Given the description of an element on the screen output the (x, y) to click on. 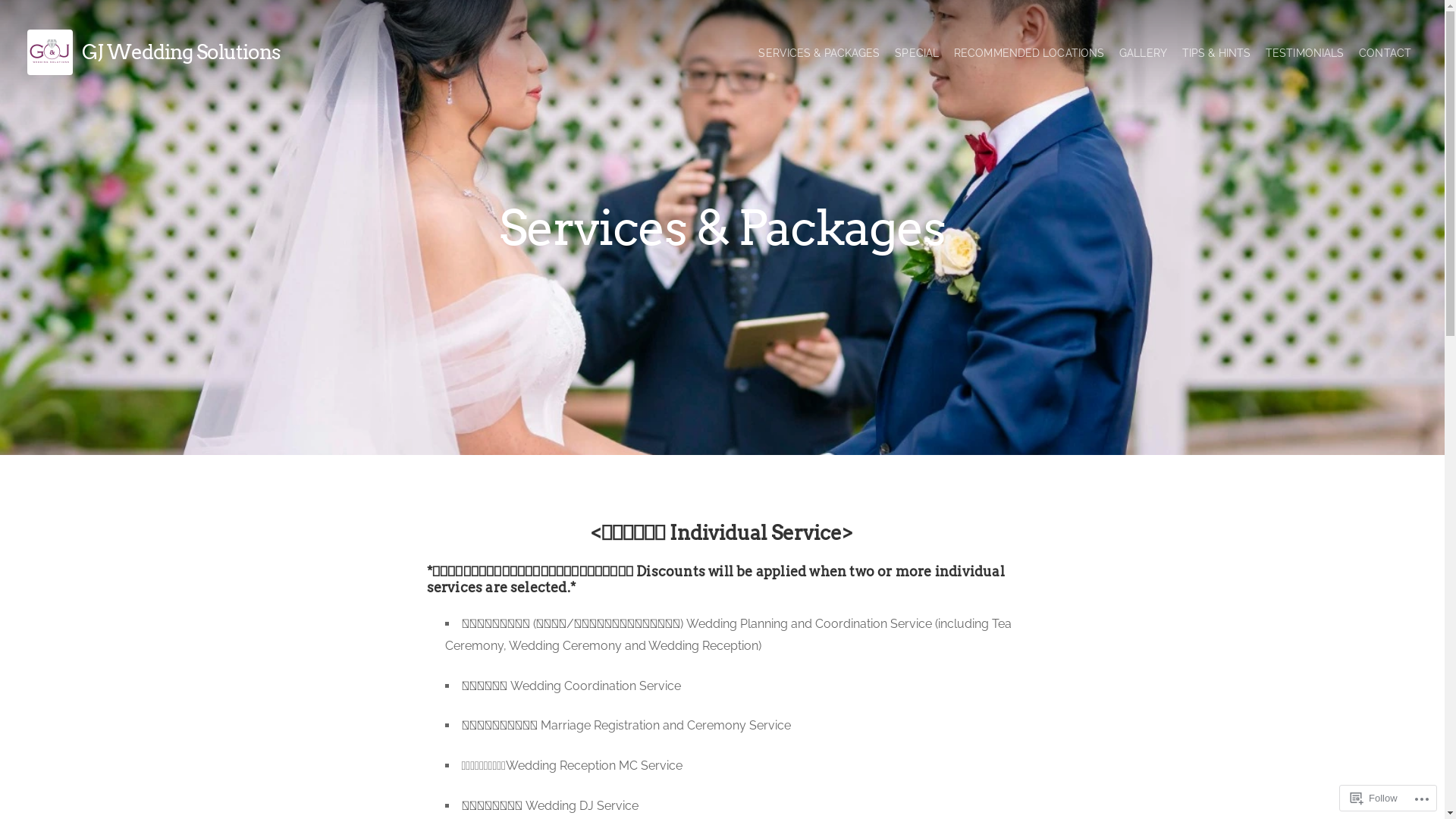
CONTACT Element type: text (1384, 52)
Follow Element type: text (1373, 797)
GJ Wedding Solutions Element type: text (180, 51)
GALLERY Element type: text (1143, 52)
SPECIAL Element type: text (916, 52)
TIPS & HINTS Element type: text (1216, 52)
RECOMMENDED LOCATIONS Element type: text (1028, 52)
TESTIMONIALS Element type: text (1304, 52)
SERVICES & PACKAGES Element type: text (818, 52)
